Given the description of an element on the screen output the (x, y) to click on. 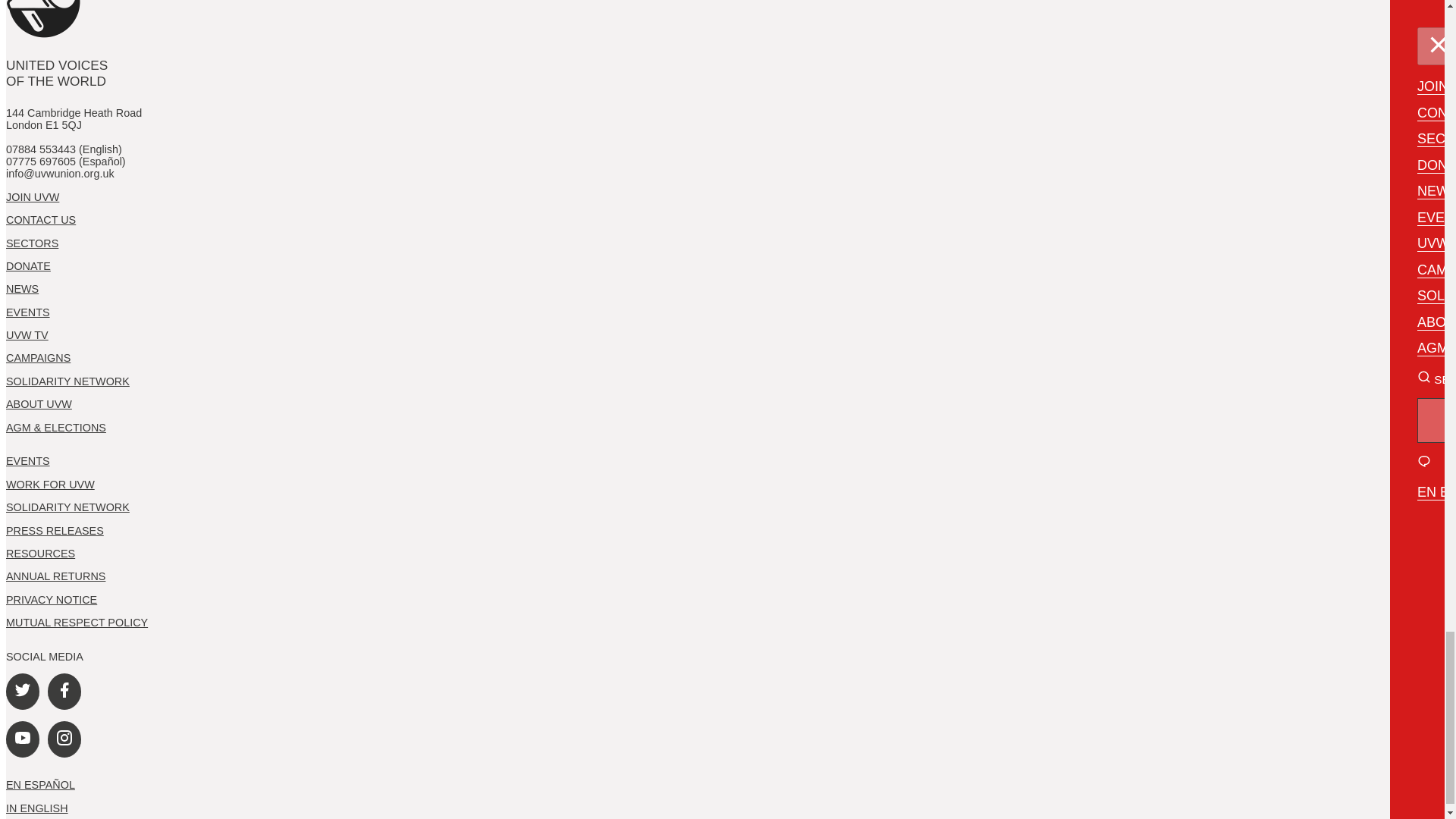
Instagram (64, 739)
Facebook (64, 691)
Twitter (22, 691)
YouTube (22, 739)
